Given the description of an element on the screen output the (x, y) to click on. 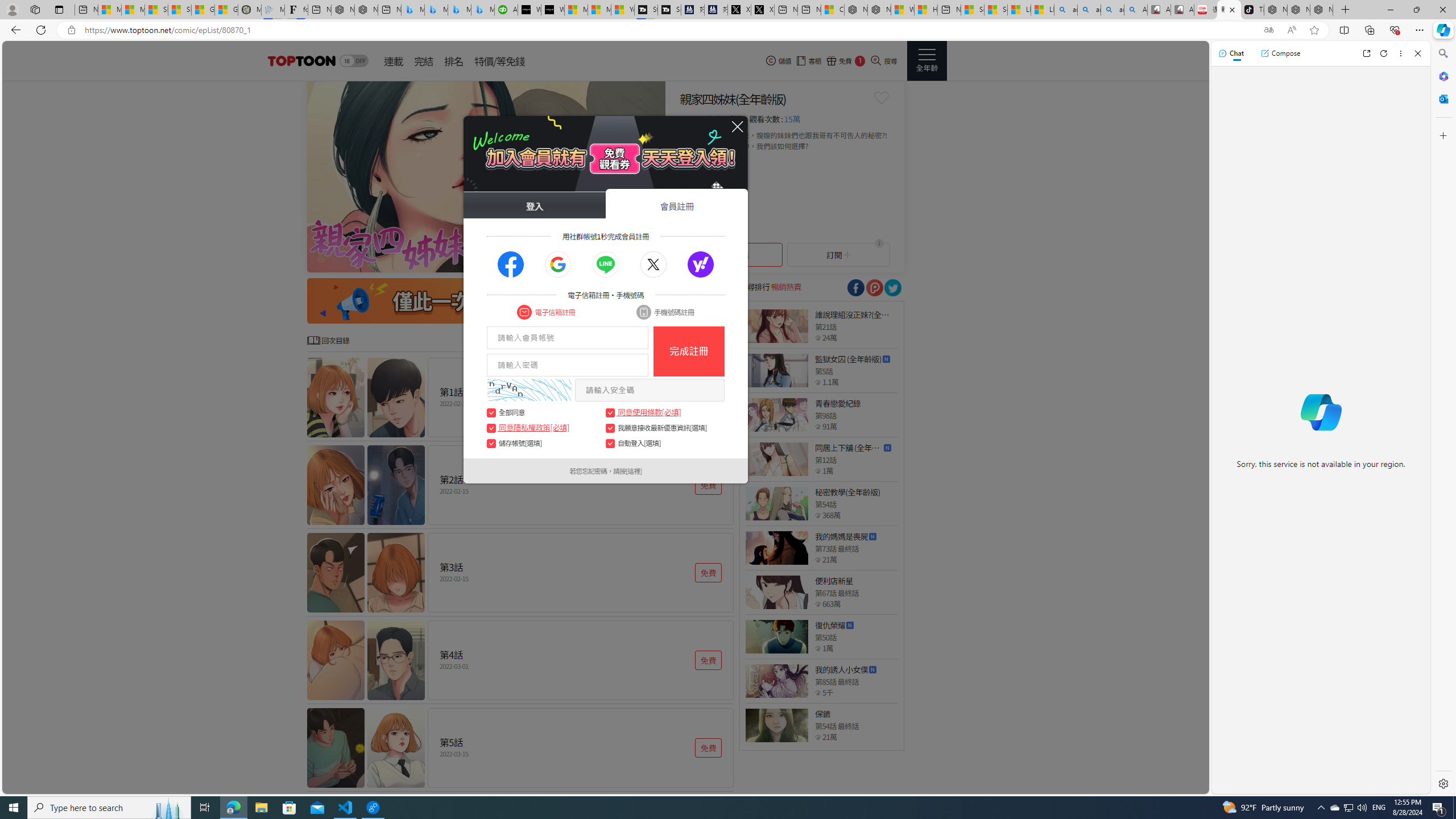
Nordace - Best Sellers (1275, 9)
Compose (1280, 52)
What's the best AI voice generator? - voice.ai (552, 9)
Amazon Echo Robot - Search Images (1135, 9)
Side bar (1443, 418)
